Given the description of an element on the screen output the (x, y) to click on. 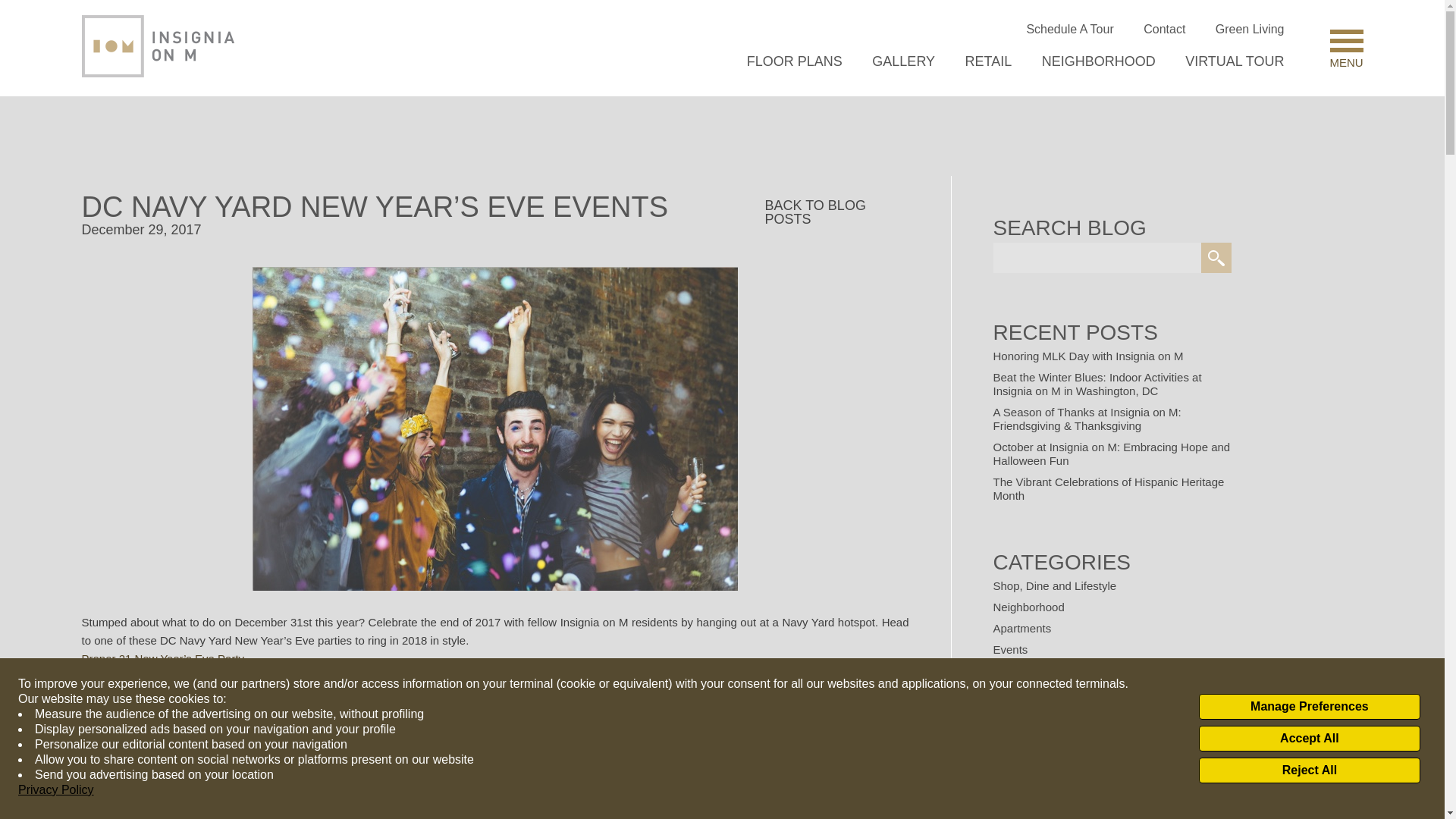
Schedule A Tour (1069, 29)
FLOOR PLANS (794, 60)
NEIGHBORHOOD (1099, 60)
RETAIL (988, 60)
Privacy Policy (55, 789)
Green Living (1249, 29)
GALLERY (903, 60)
Search (1216, 257)
Search (1216, 257)
VIRTUAL TOUR (1234, 60)
Manage Preferences (1309, 706)
Accept All (1309, 738)
Contact (1163, 29)
Reject All (1309, 769)
